Given the description of an element on the screen output the (x, y) to click on. 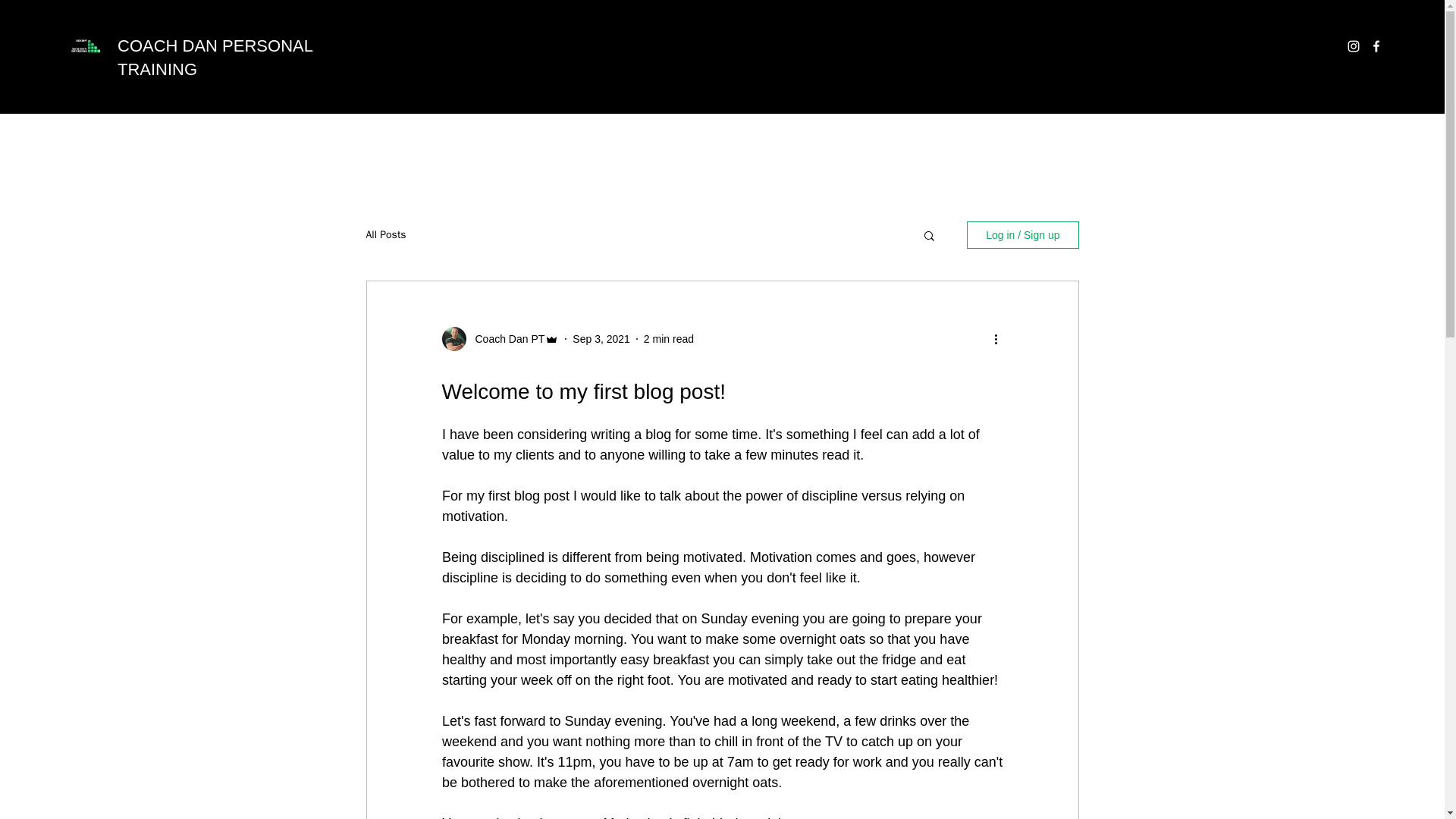
Coach Dan PT (504, 339)
COACH DAN PERSONAL TRAINING (215, 57)
2 min read (668, 338)
All Posts (385, 234)
Sep 3, 2021 (601, 338)
